Given the description of an element on the screen output the (x, y) to click on. 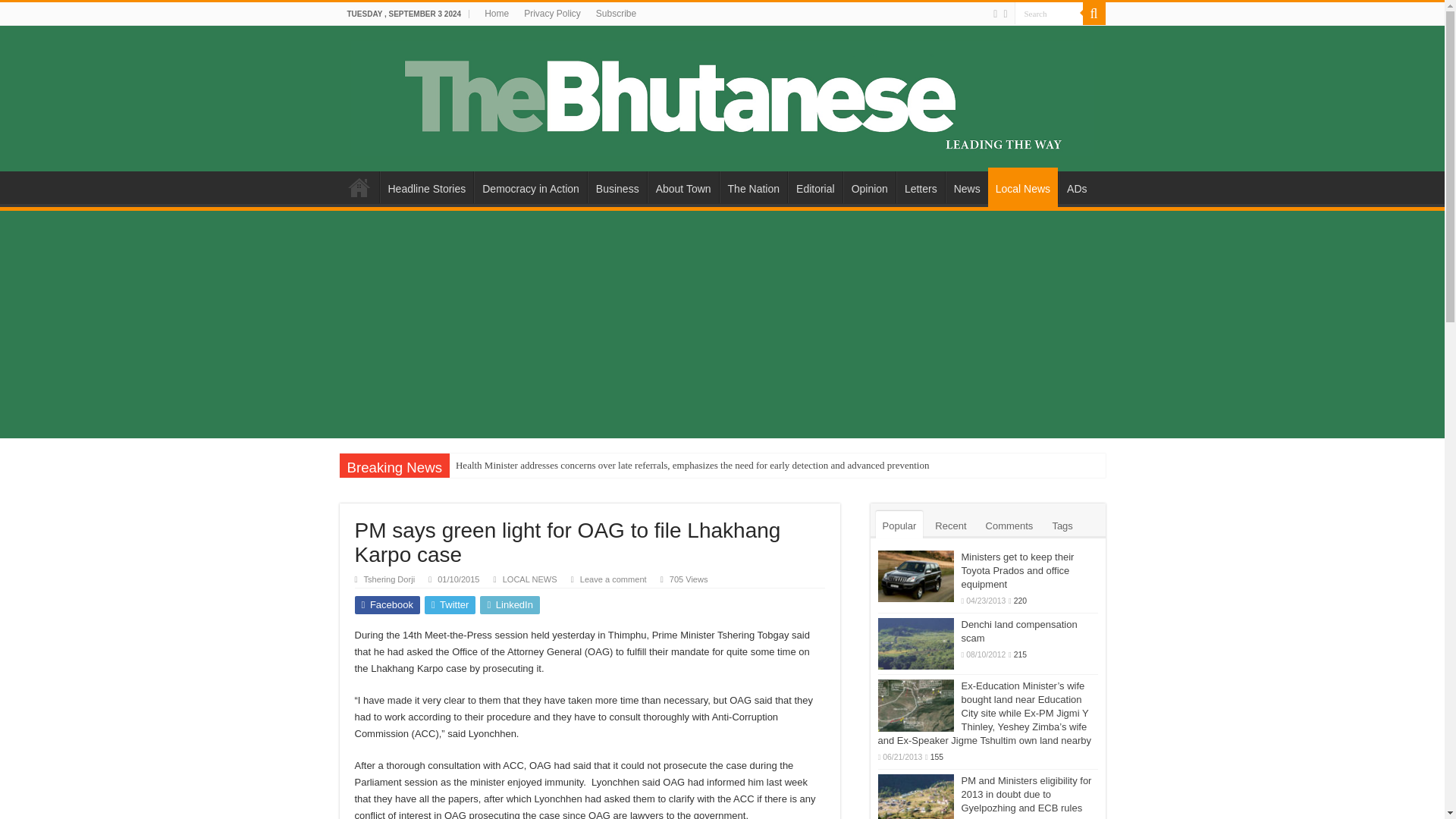
Local News (1023, 187)
Search (1048, 13)
Search (1048, 13)
Subscribe (615, 13)
Opinion (869, 187)
ADs (1076, 187)
About Town (683, 187)
News (966, 187)
